Given the description of an element on the screen output the (x, y) to click on. 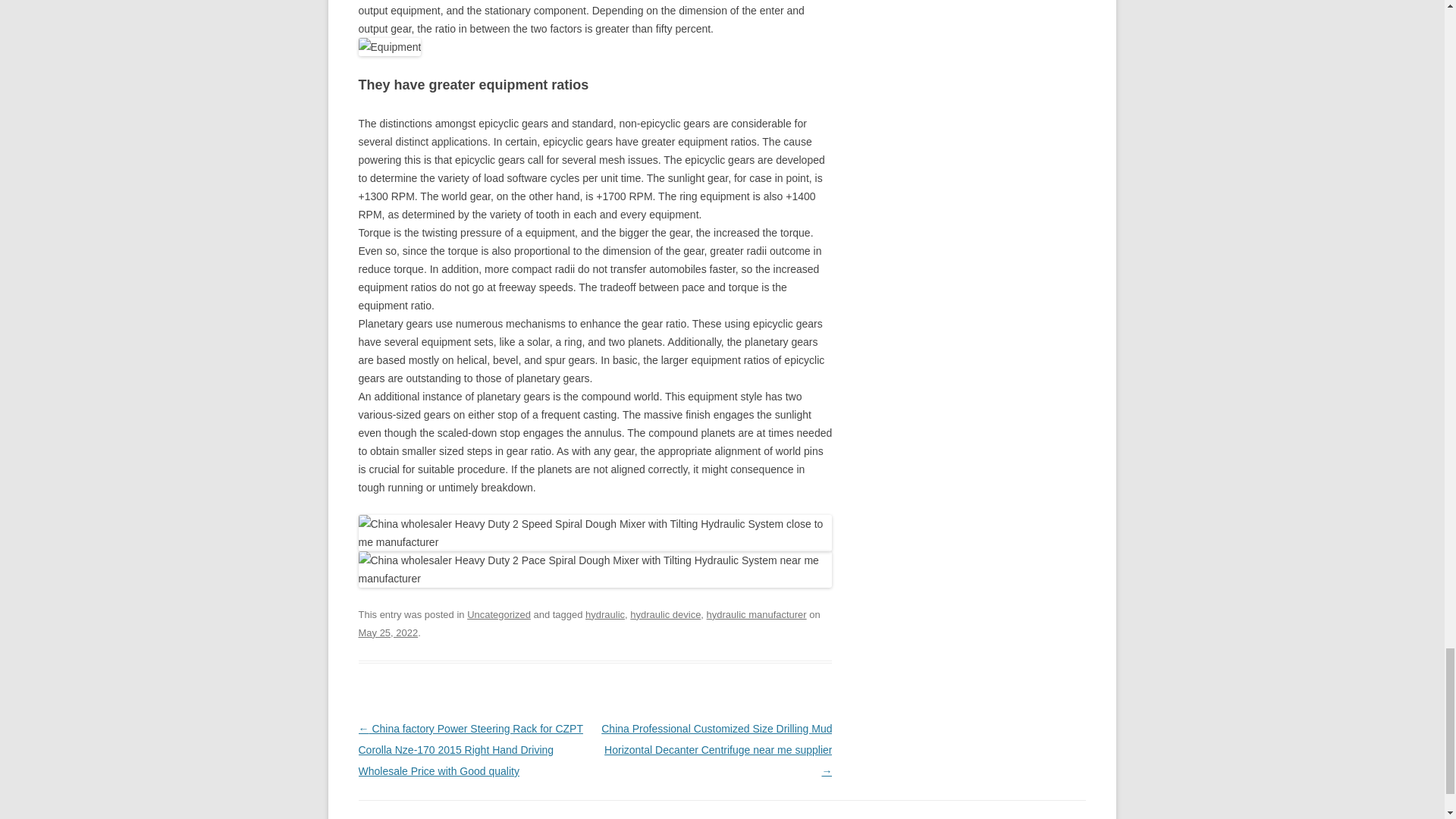
hydraulic (604, 614)
hydraulic manufacturer (756, 614)
1:50 am (387, 632)
hydraulic device (665, 614)
Uncategorized (499, 614)
May 25, 2022 (387, 632)
